Given the description of an element on the screen output the (x, y) to click on. 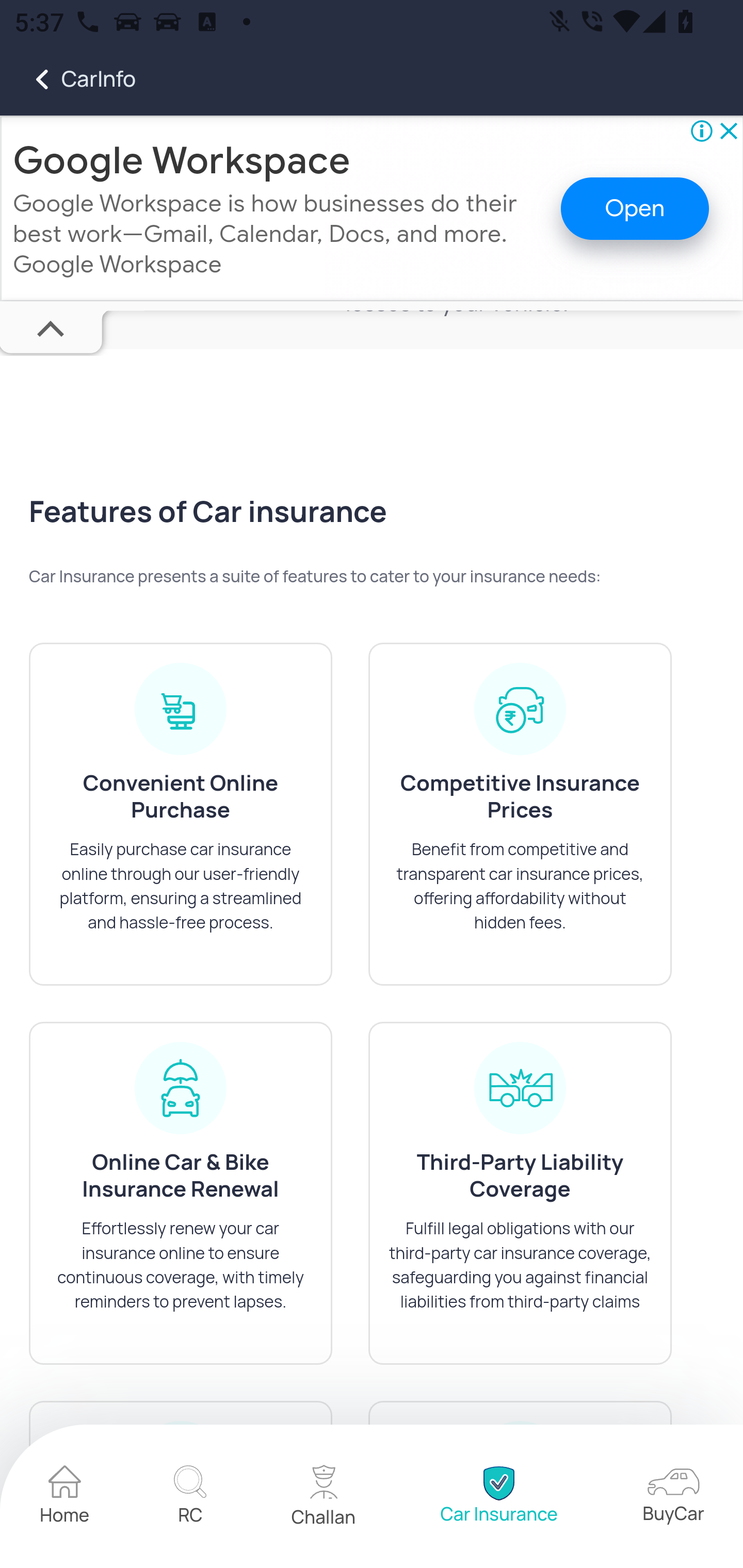
CarInfo (67, 79)
Google Workspace (182, 161)
Open (634, 209)
home Challan home Challan (323, 1497)
home Home home Home (64, 1498)
home RC home RC (190, 1498)
home Car Insurance home Car Insurance (497, 1498)
home BuyCar home BuyCar (672, 1497)
